Given the description of an element on the screen output the (x, y) to click on. 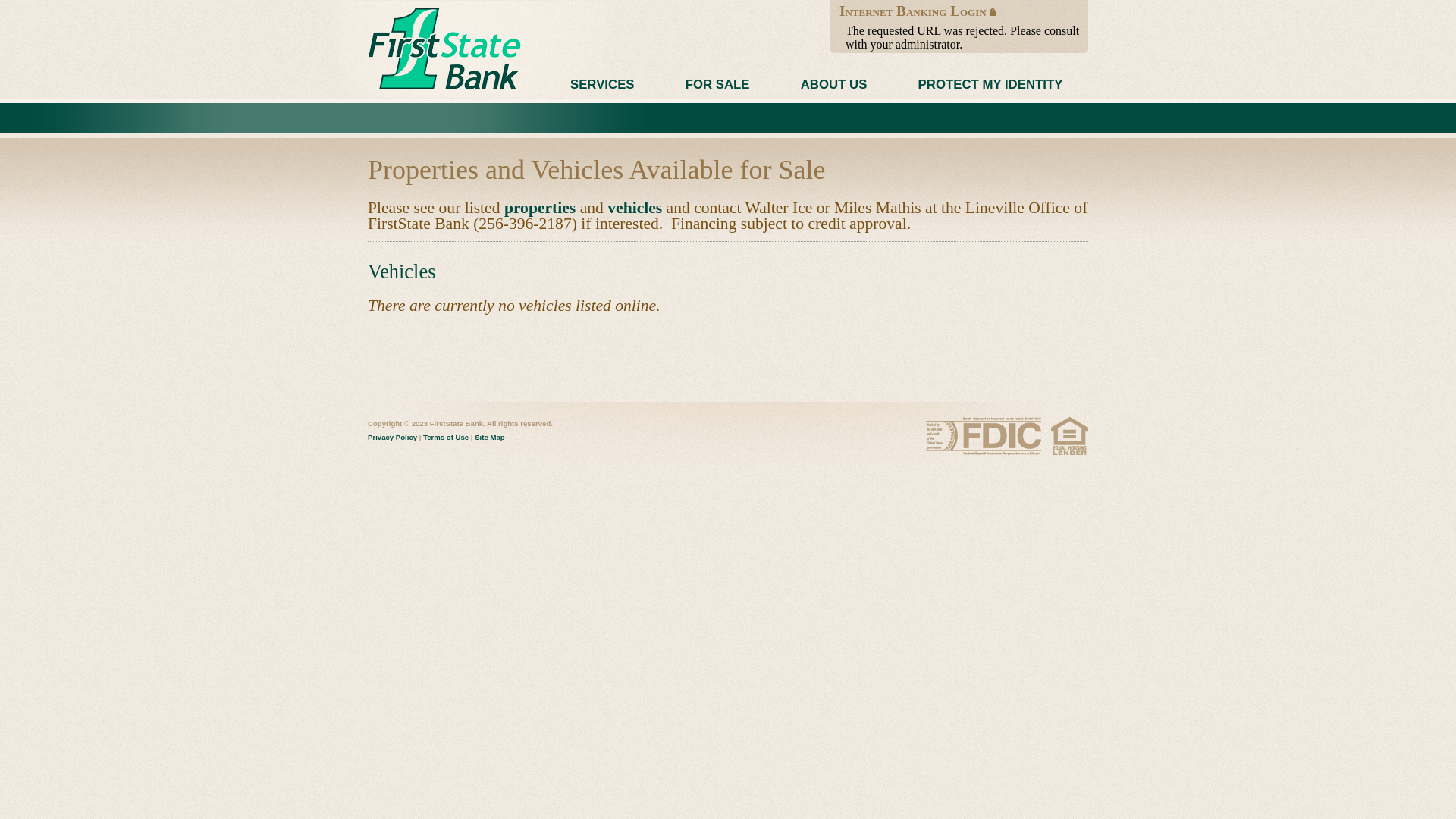
Site Map Element type: text (489, 437)
Privacy Policy Element type: text (459, 444)
properties Element type: text (539, 207)
FOR SALE Element type: text (717, 84)
PROTECT MY IDENTITY Element type: text (990, 84)
Terms of Use Element type: text (445, 437)
ABOUT US Element type: text (833, 84)
vehicles Element type: text (634, 207)
SERVICES Element type: text (601, 84)
